Given the description of an element on the screen output the (x, y) to click on. 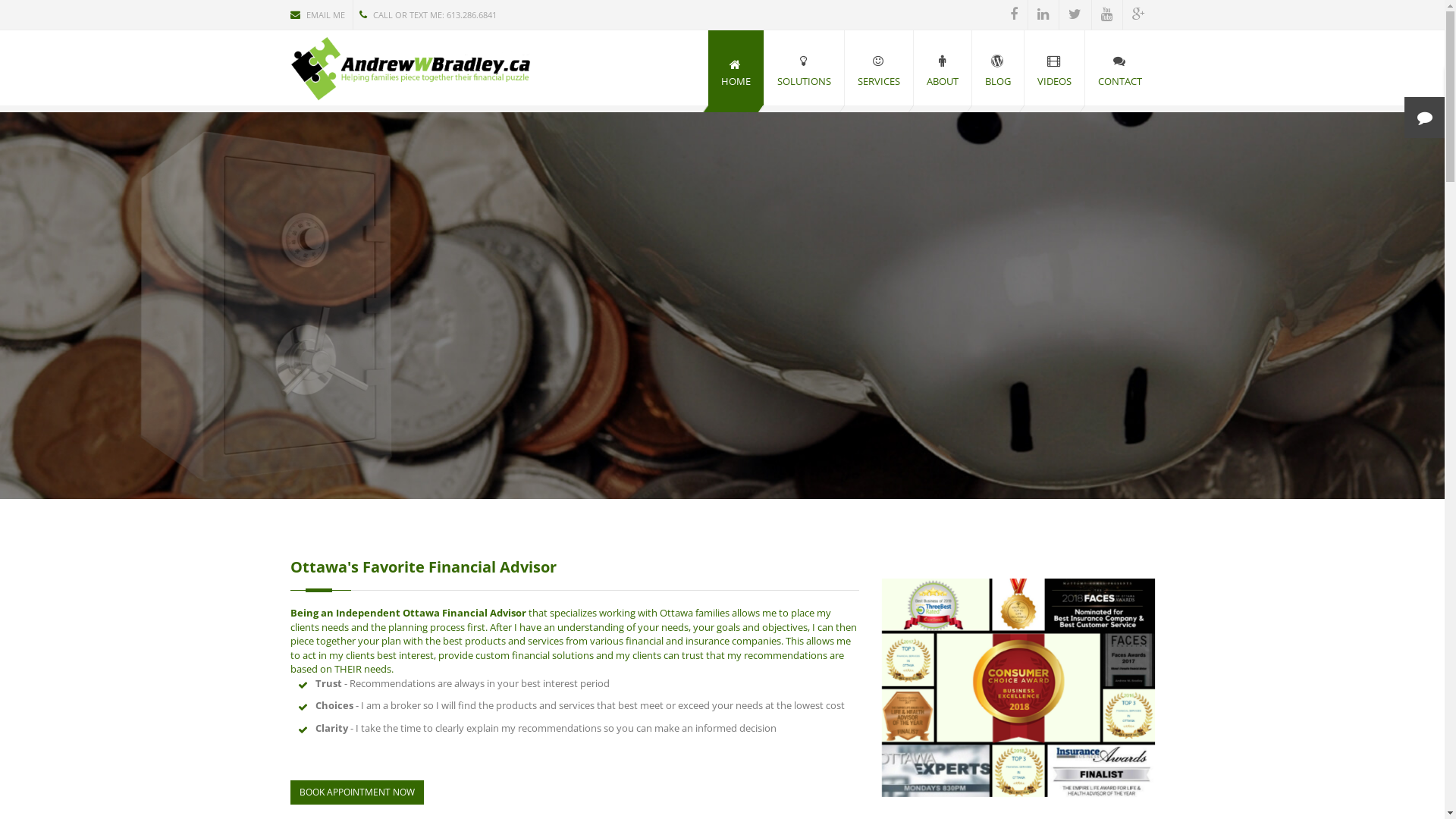
CONTACT Element type: text (1119, 67)
BLOG Element type: text (997, 67)
BOOK APPOINTMENT NOW Element type: text (356, 792)
HOME Element type: text (735, 67)
SOLUTIONS Element type: text (804, 67)
SERVICES Element type: text (878, 67)
ABOUT Element type: text (941, 67)
VIDEOS Element type: text (1053, 67)
EMAIL ME Element type: text (320, 14)
Facebook Element type: hover (1013, 14)
CALL OR TEXT ME: 613.286.6841 Element type: text (428, 14)
